Given the description of an element on the screen output the (x, y) to click on. 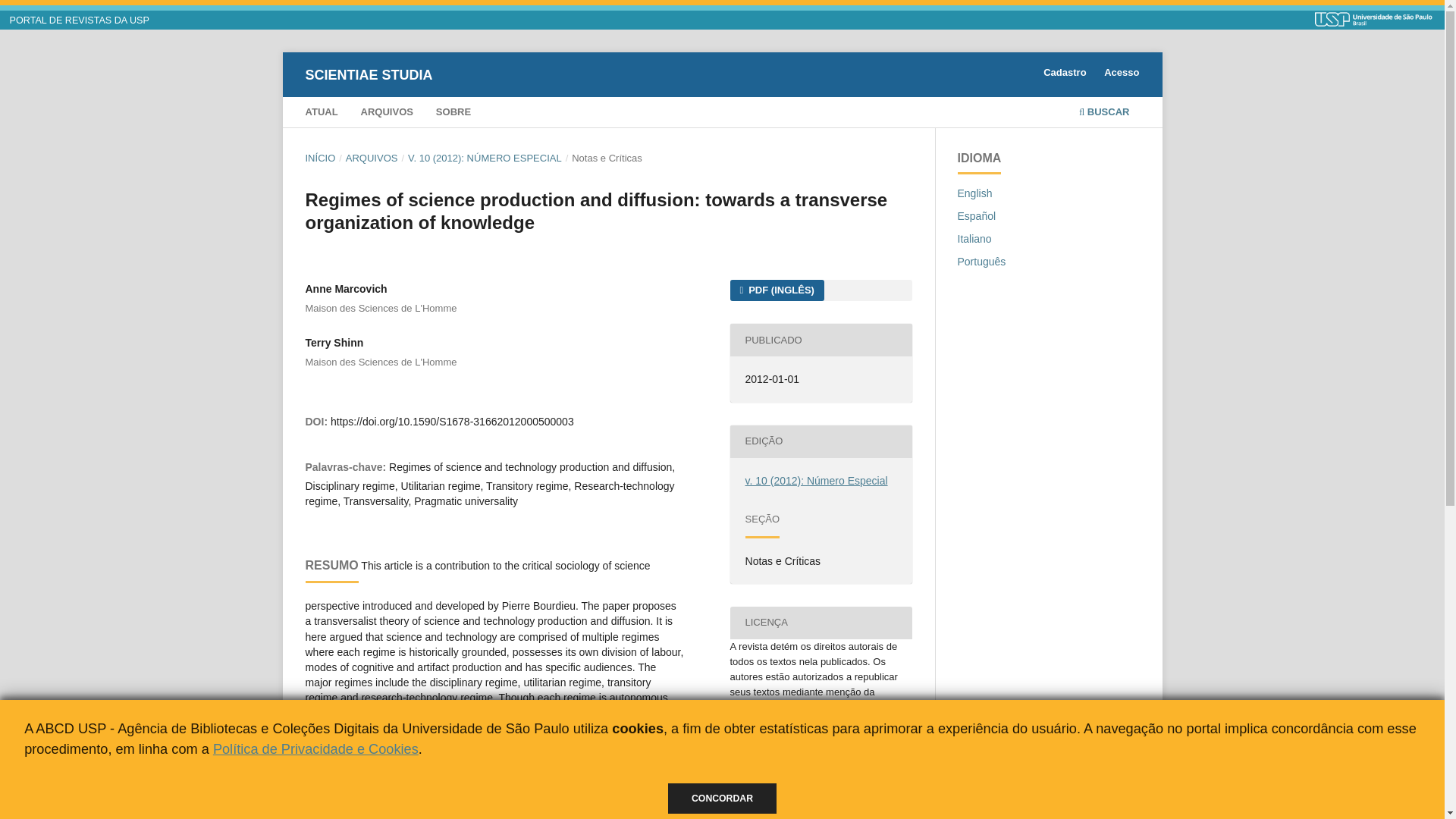
ATUAL (320, 113)
Ir para a Home Page do Portal de Revistas da USP (79, 20)
ARQUIVOS (371, 158)
SOBRE (453, 113)
SCIENTIAE STUDIA (368, 73)
Acesso (1121, 73)
PORTAL DE REVISTAS DA USP (79, 20)
Cadastro (1064, 73)
BUSCAR (1104, 113)
ARQUIVOS (386, 113)
